Given the description of an element on the screen output the (x, y) to click on. 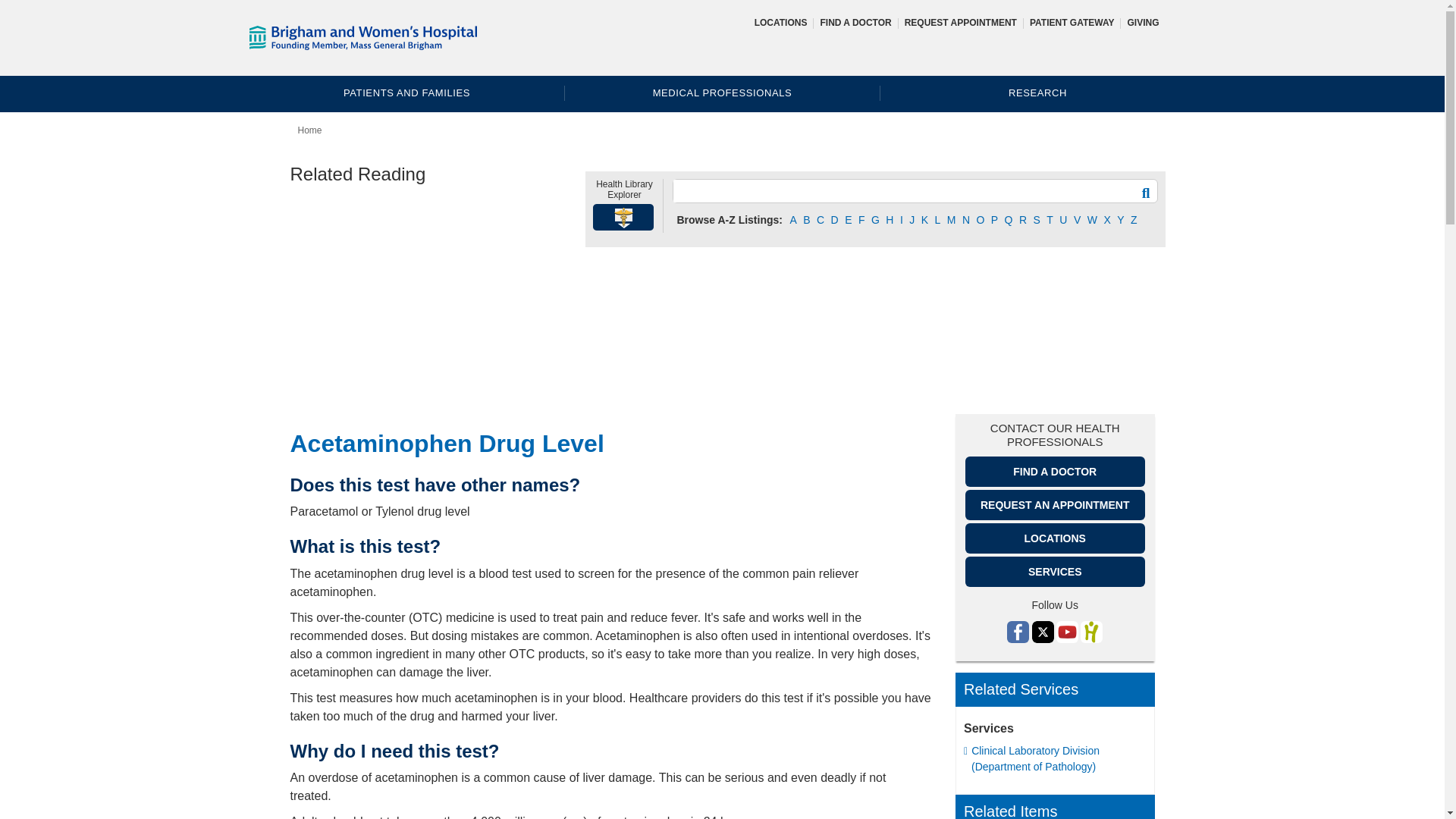
FIND A DOCTOR (855, 22)
Patient Gateway (1072, 22)
GIVING (1142, 22)
REQUEST APPOINTMENT (960, 22)
Find a Doctor at Brigham and Women's Hospital (855, 22)
LOCATIONS (781, 22)
PATIENT GATEWAY (1072, 22)
Request an Appointment at Brigham and Women's Hospital (960, 22)
